Given the description of an element on the screen output the (x, y) to click on. 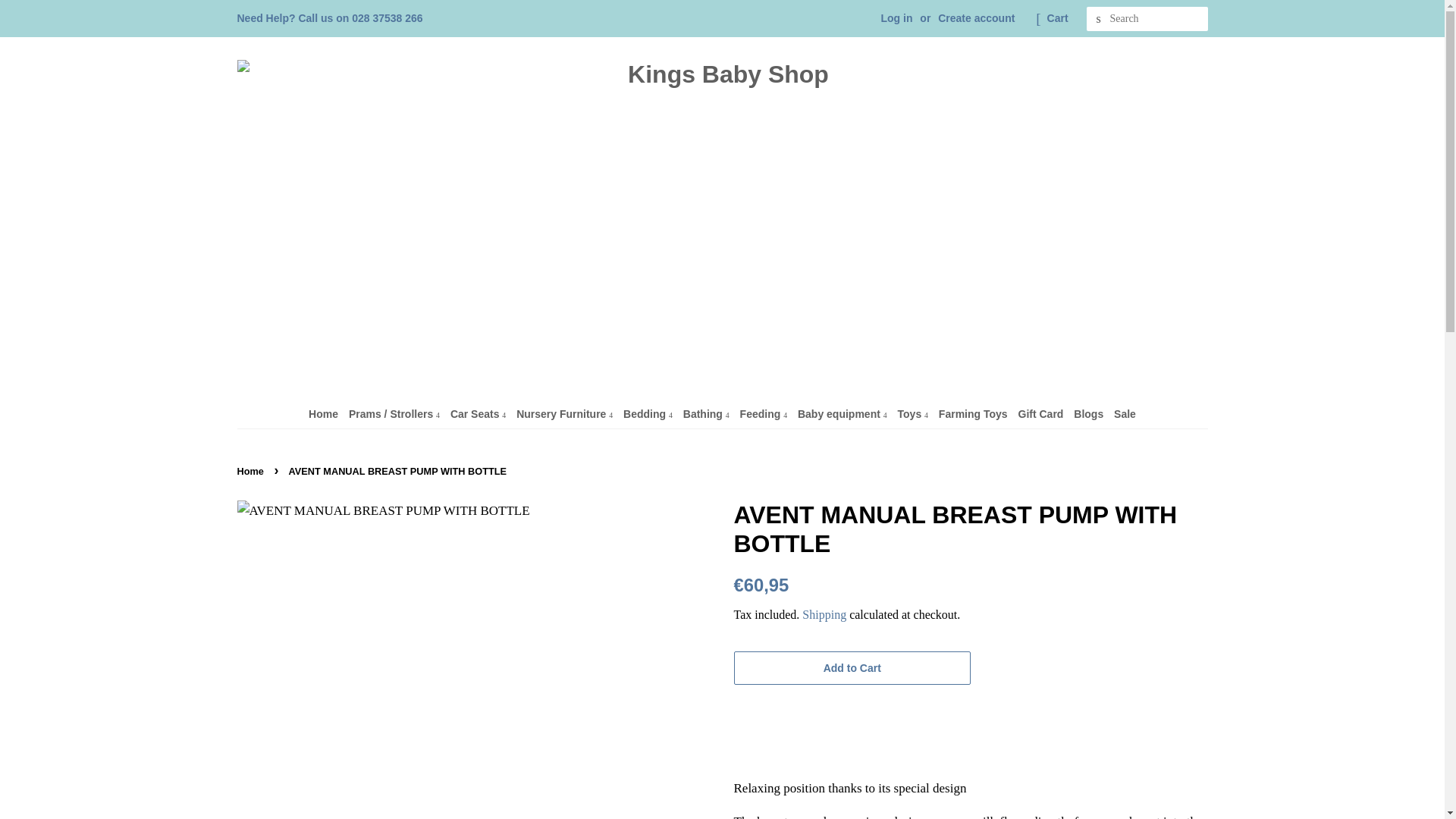
Cart (1057, 18)
Log in (896, 18)
Search (1097, 18)
Create account (975, 18)
Back to the frontpage (250, 471)
